Given the description of an element on the screen output the (x, y) to click on. 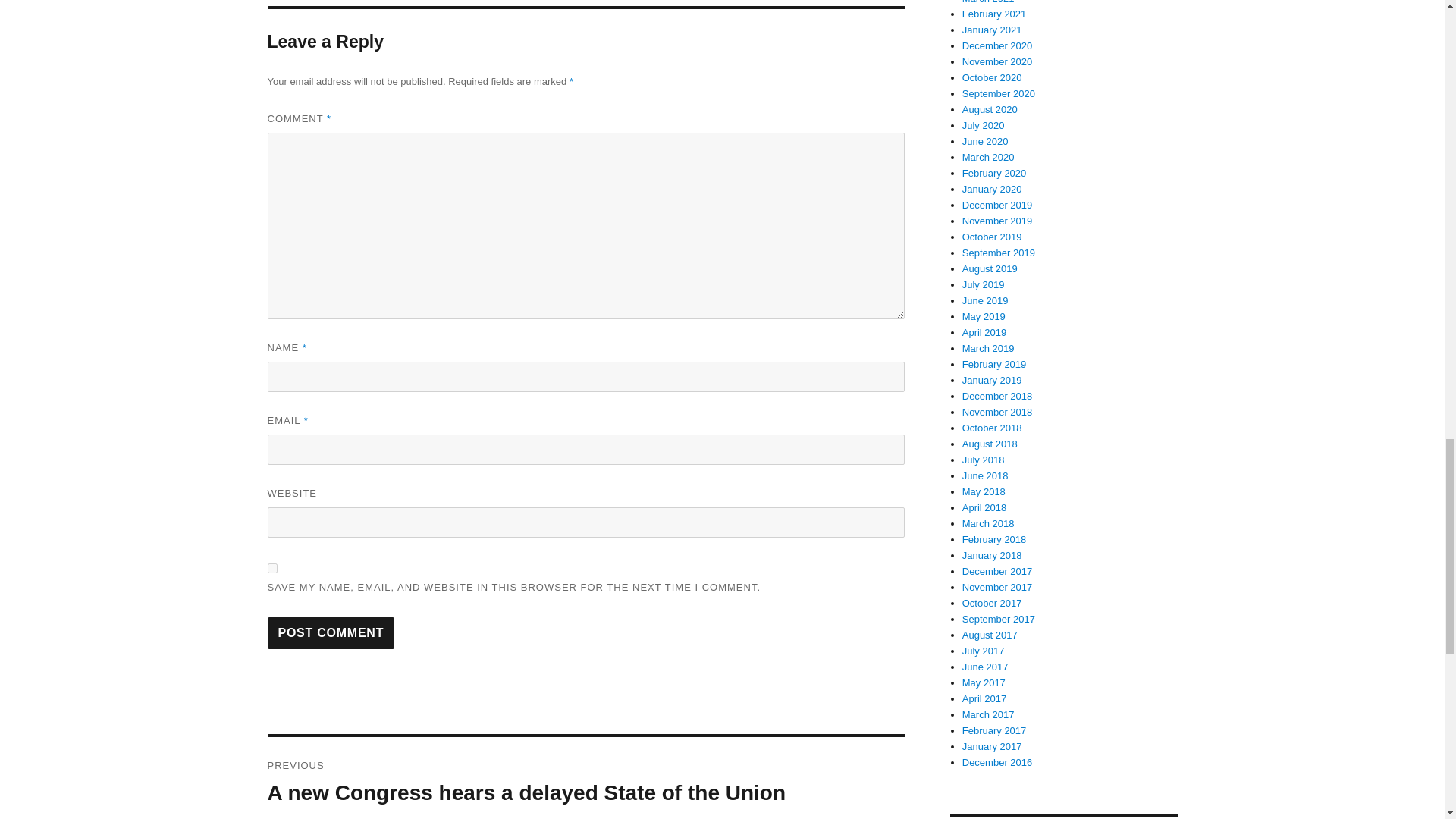
yes (271, 568)
Post Comment (330, 633)
Post Comment (330, 633)
